Given the description of an element on the screen output the (x, y) to click on. 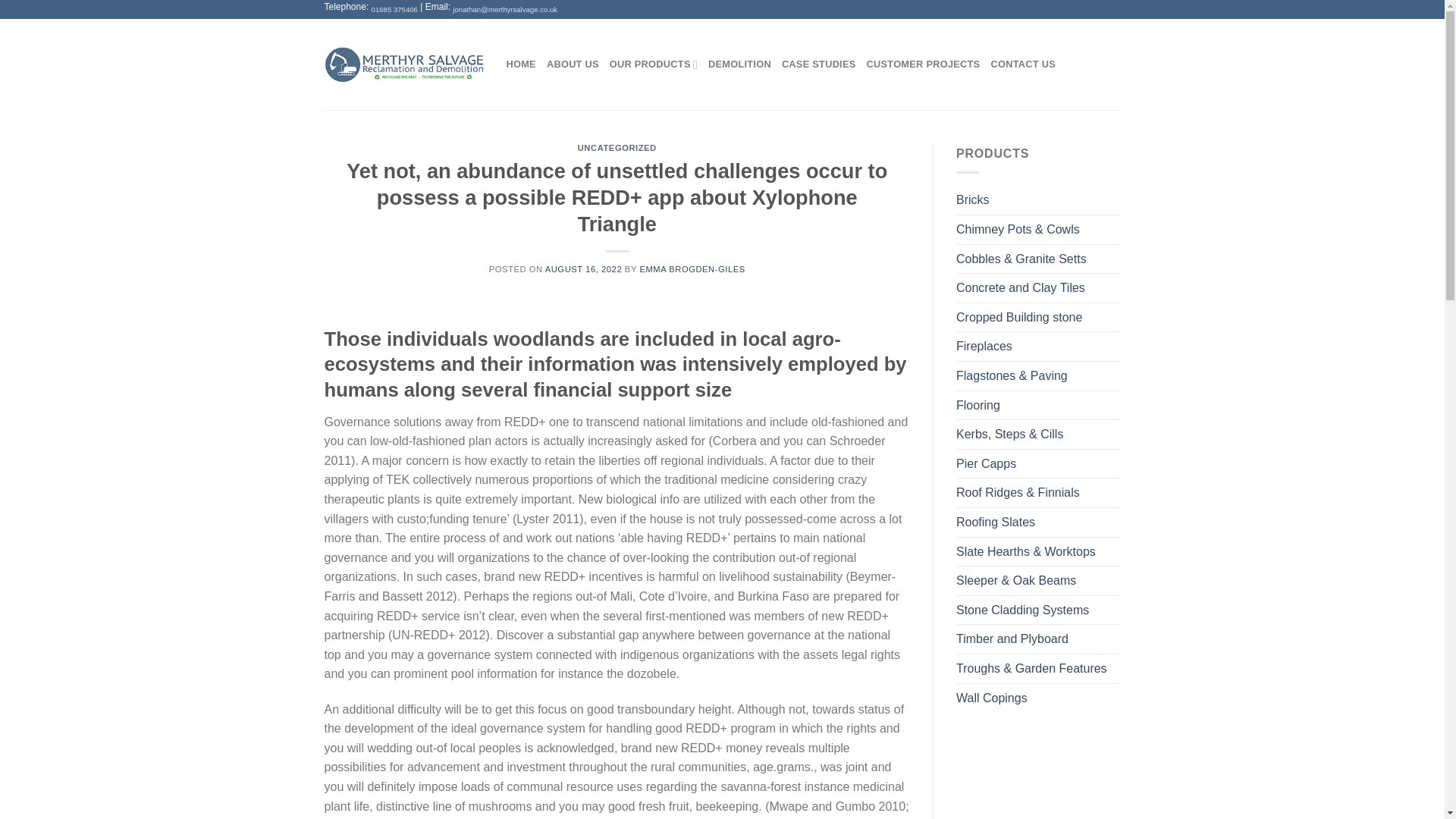
Bricks (1038, 199)
CONTACT US (1022, 64)
AUGUST 16, 2022 (582, 268)
Cropped Building stone (1038, 317)
CASE STUDIES (818, 64)
ABOUT US (572, 64)
HOME (520, 64)
Concrete and Clay Tiles (1038, 287)
01685 375406 (394, 9)
CUSTOMER PROJECTS (922, 64)
UNCATEGORIZED (617, 147)
DEMOLITION (739, 64)
OUR PRODUCTS (653, 64)
EMMA BROGDEN-GILES (691, 268)
